Given the description of an element on the screen output the (x, y) to click on. 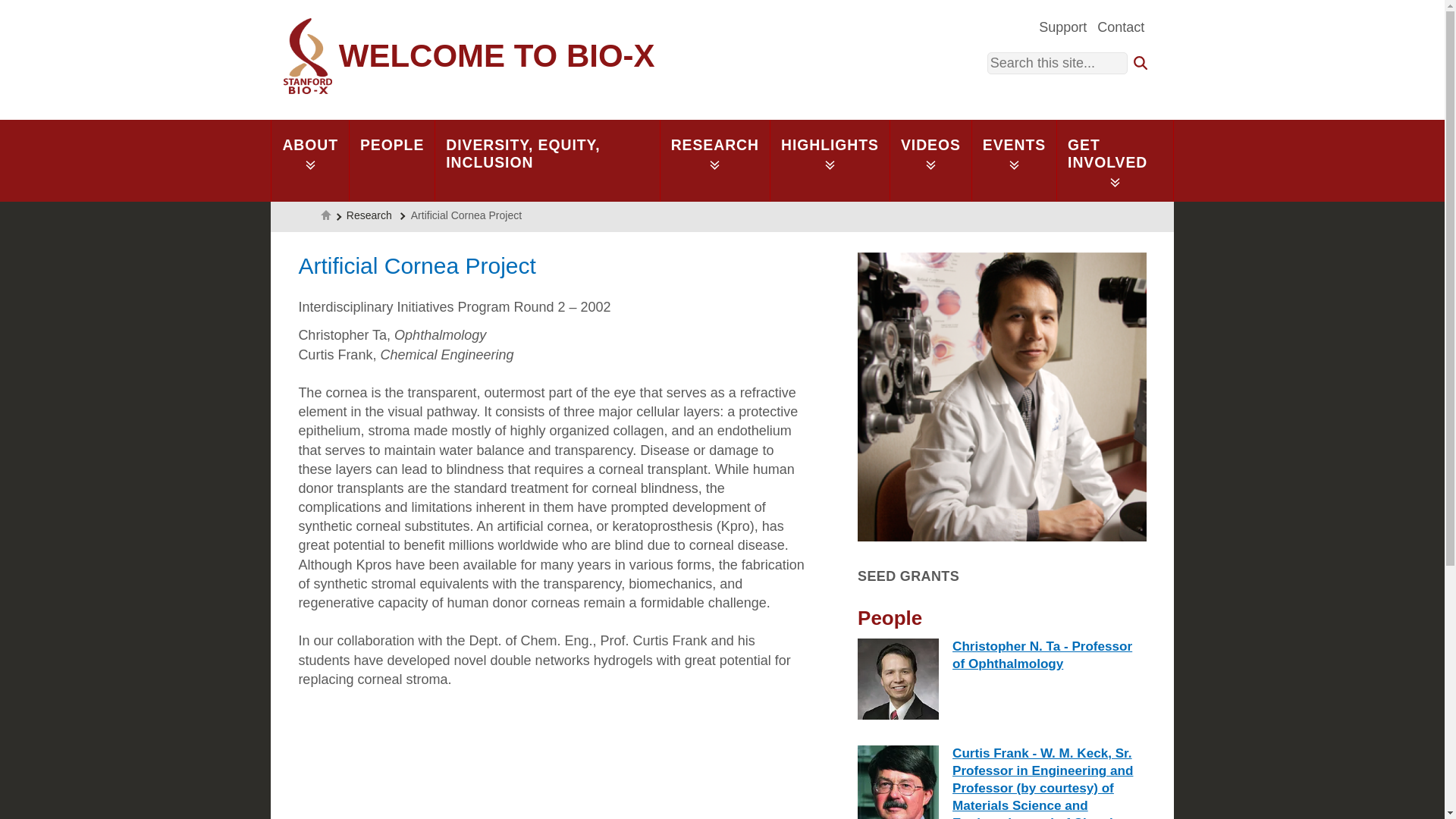
Contact (1121, 26)
WELCOME TO BIO-X (468, 56)
ABOUT (309, 160)
Support (1062, 26)
PEOPLE (392, 160)
Enter the keywords you wish to search for. (1056, 63)
DIVERSITY, EQUITY, INCLUSION (546, 160)
Home (468, 56)
HIGHLIGHTS (829, 160)
RESEARCH (714, 160)
